Given the description of an element on the screen output the (x, y) to click on. 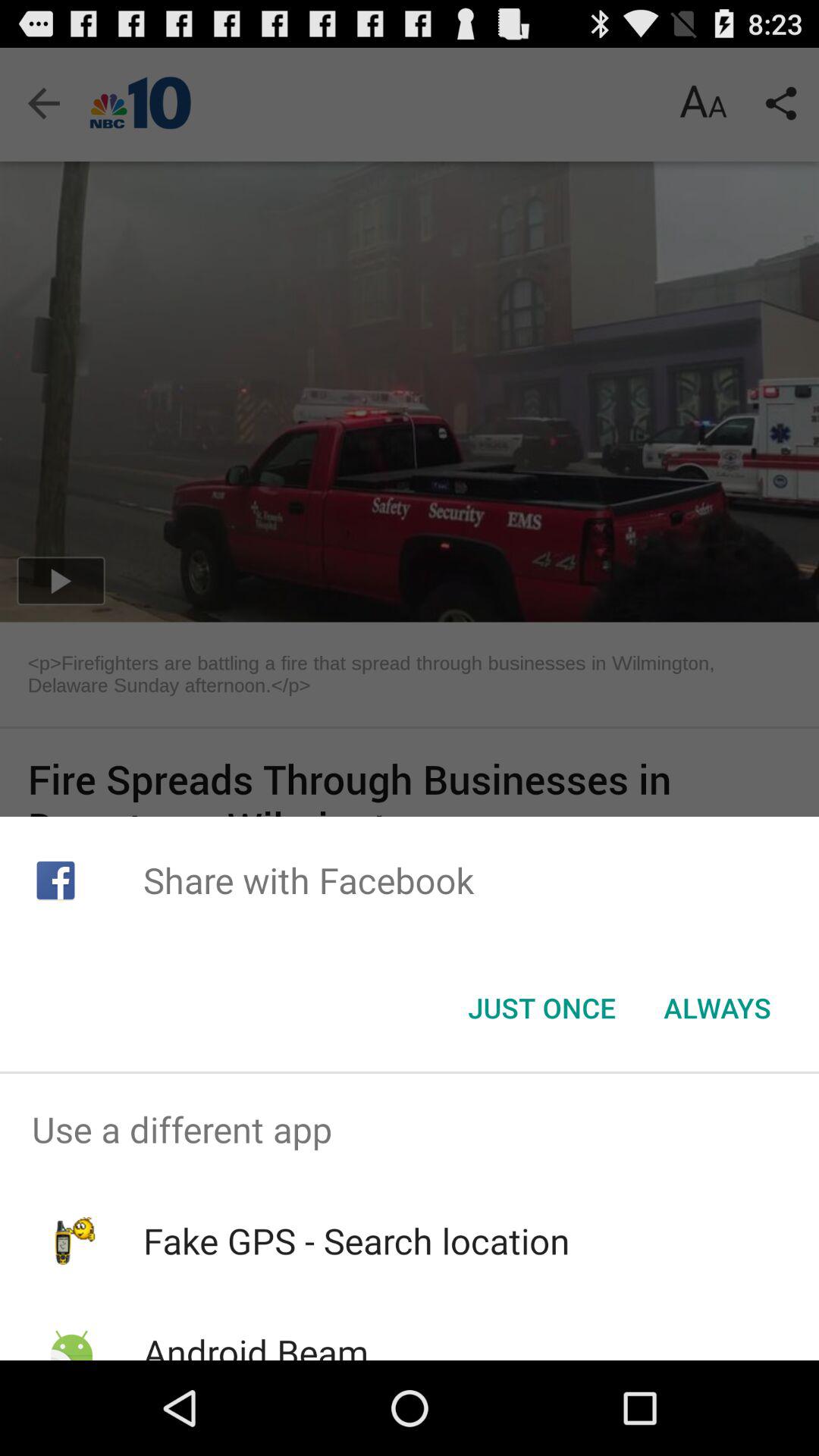
launch icon below use a different item (356, 1240)
